Given the description of an element on the screen output the (x, y) to click on. 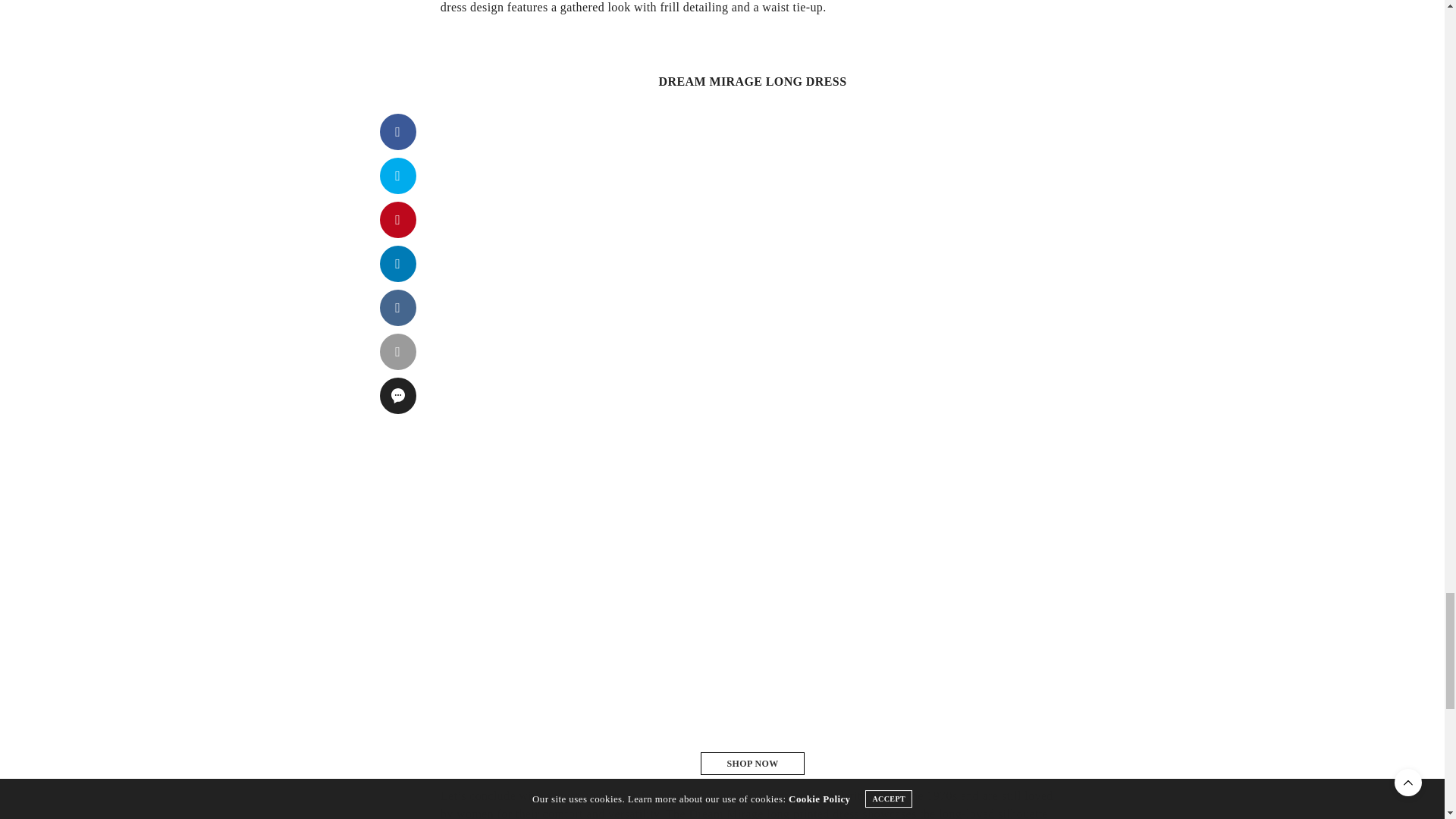
SHOP NOW (751, 763)
